Given the description of an element on the screen output the (x, y) to click on. 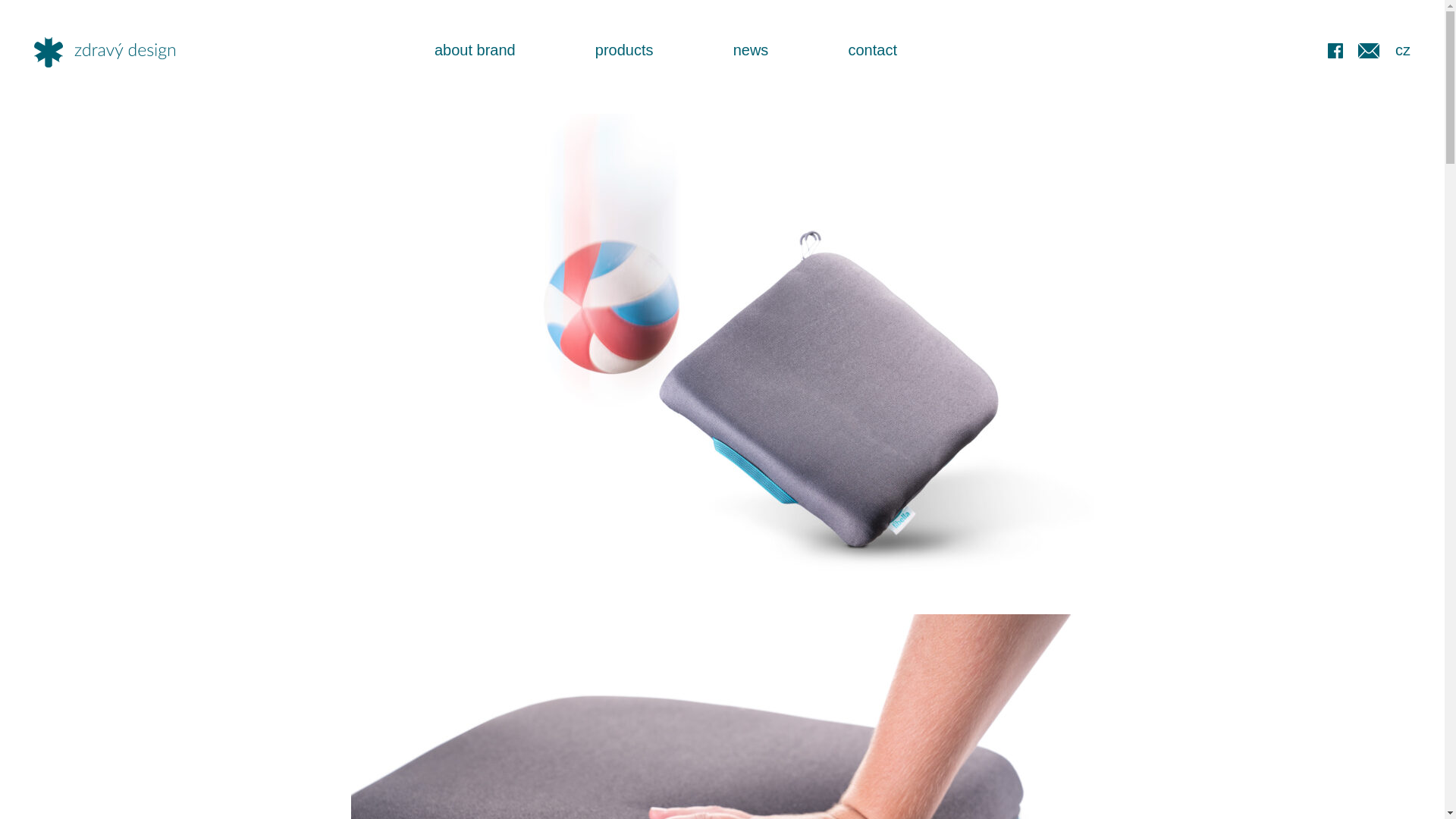
Products (624, 50)
Contact (871, 50)
products (624, 50)
Czech (1402, 49)
contact (871, 50)
about brand (474, 50)
About brand (474, 50)
news (750, 50)
News (750, 50)
cz (1402, 49)
